Given the description of an element on the screen output the (x, y) to click on. 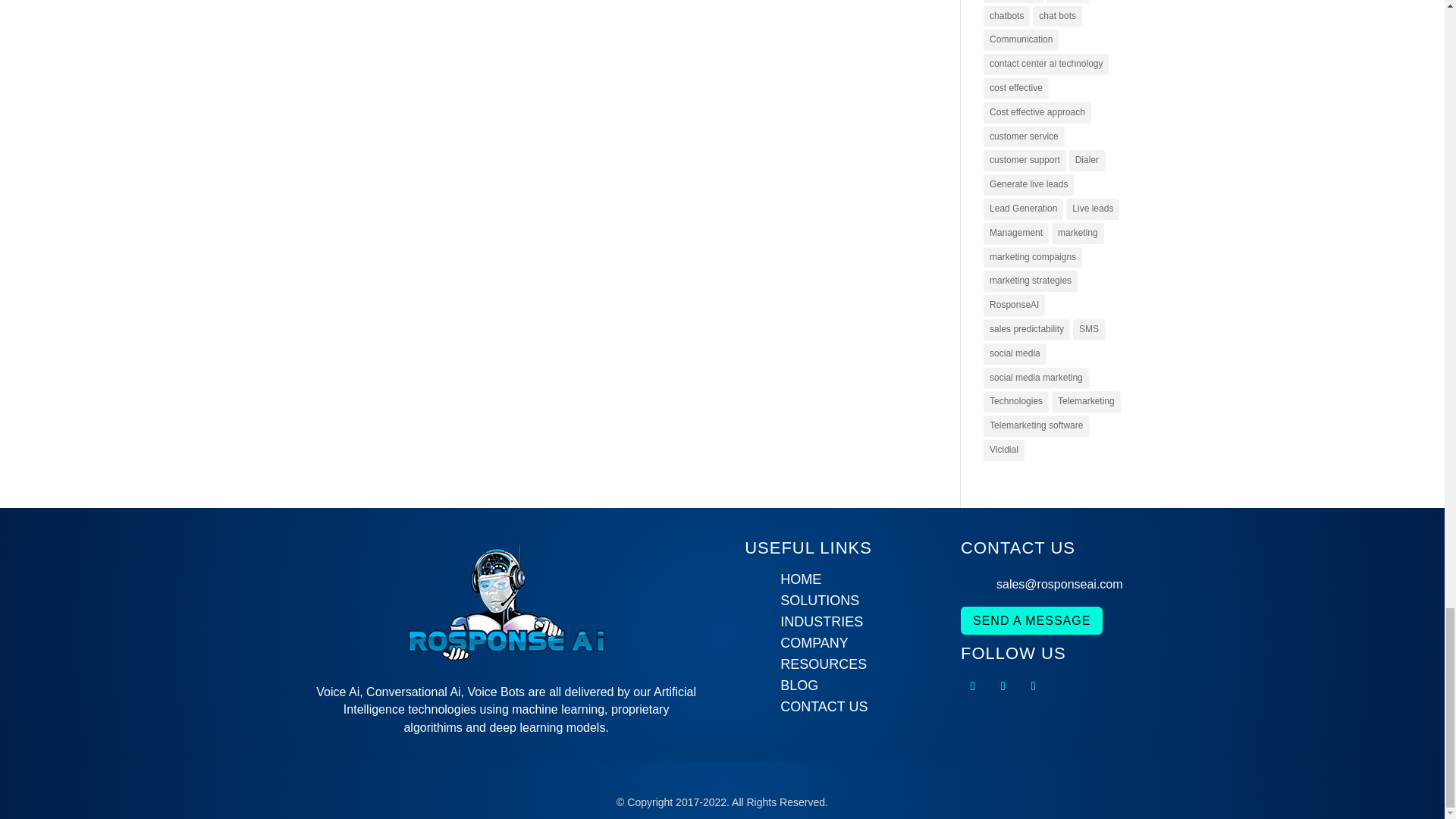
Follow on X (972, 686)
fot-logo (506, 597)
Follow on Instagram (1033, 686)
Follow on Pinterest (1002, 686)
